Given the description of an element on the screen output the (x, y) to click on. 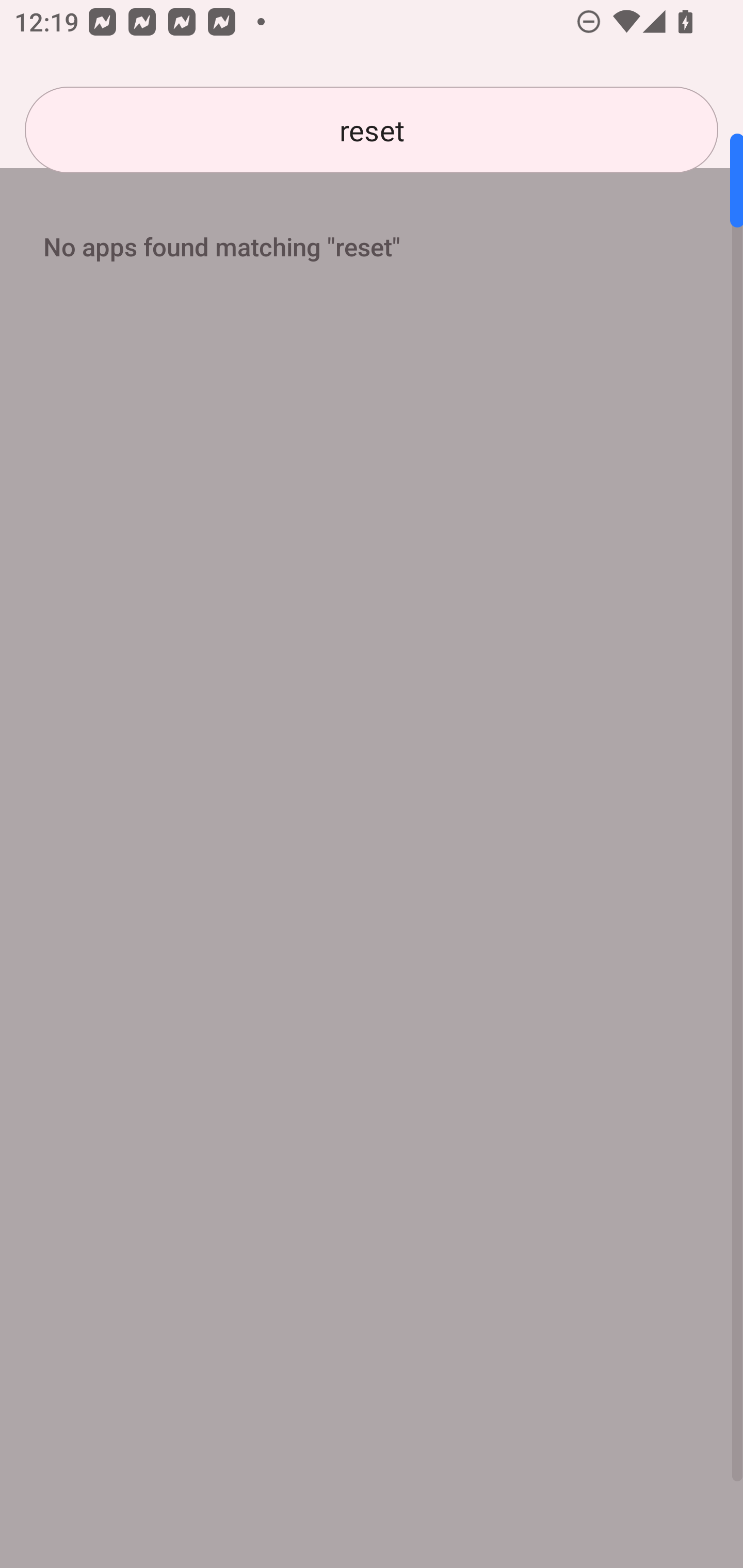
reset (371, 130)
